Given the description of an element on the screen output the (x, y) to click on. 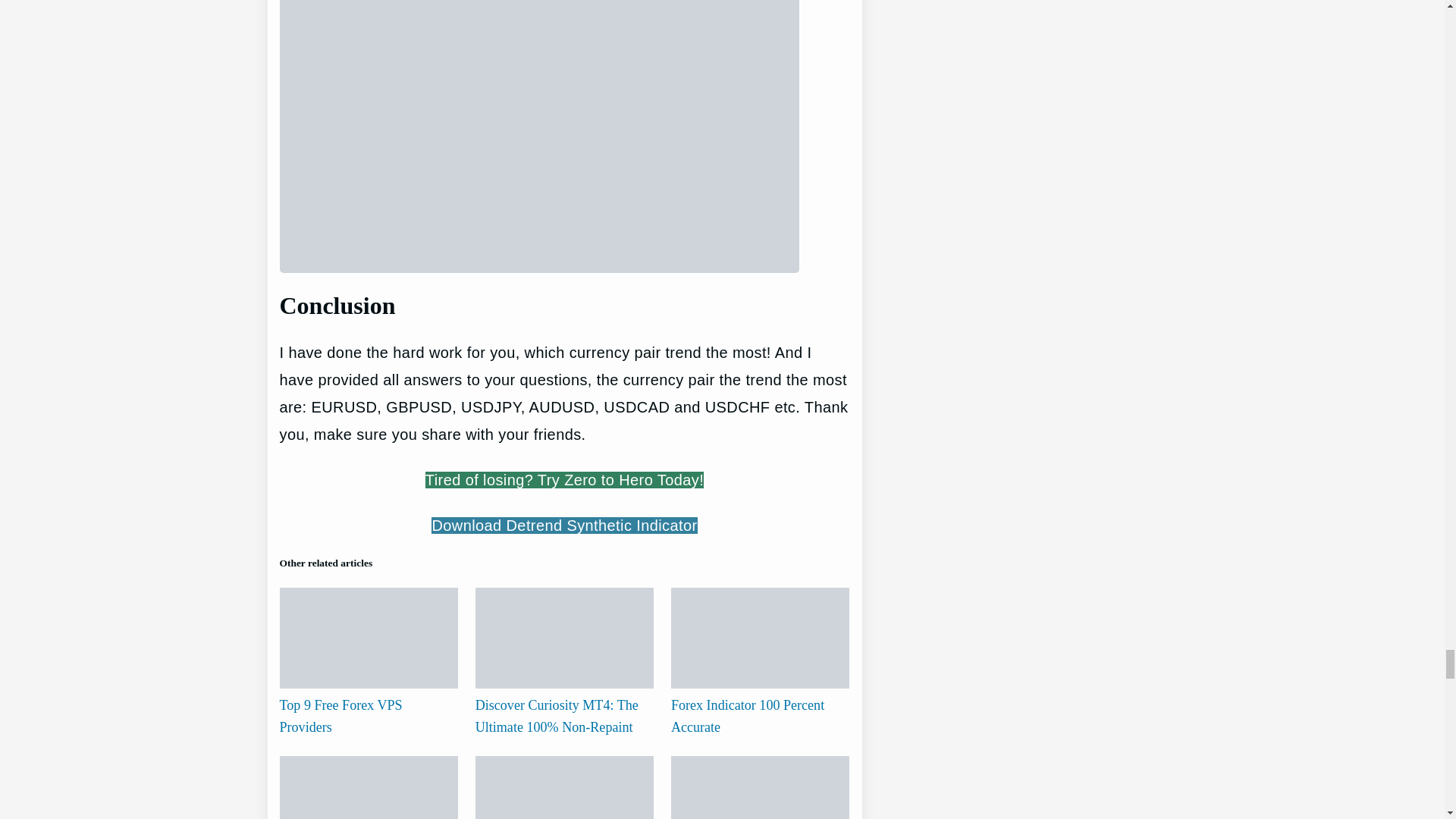
Download Detrend Synthetic Indicator (563, 524)
Top 9 Free Forex VPS Providers (340, 715)
Tired of losing? Try Zero to Hero Today! (564, 479)
Forex Indicator 100 Percent Accurate (747, 715)
